Given the description of an element on the screen output the (x, y) to click on. 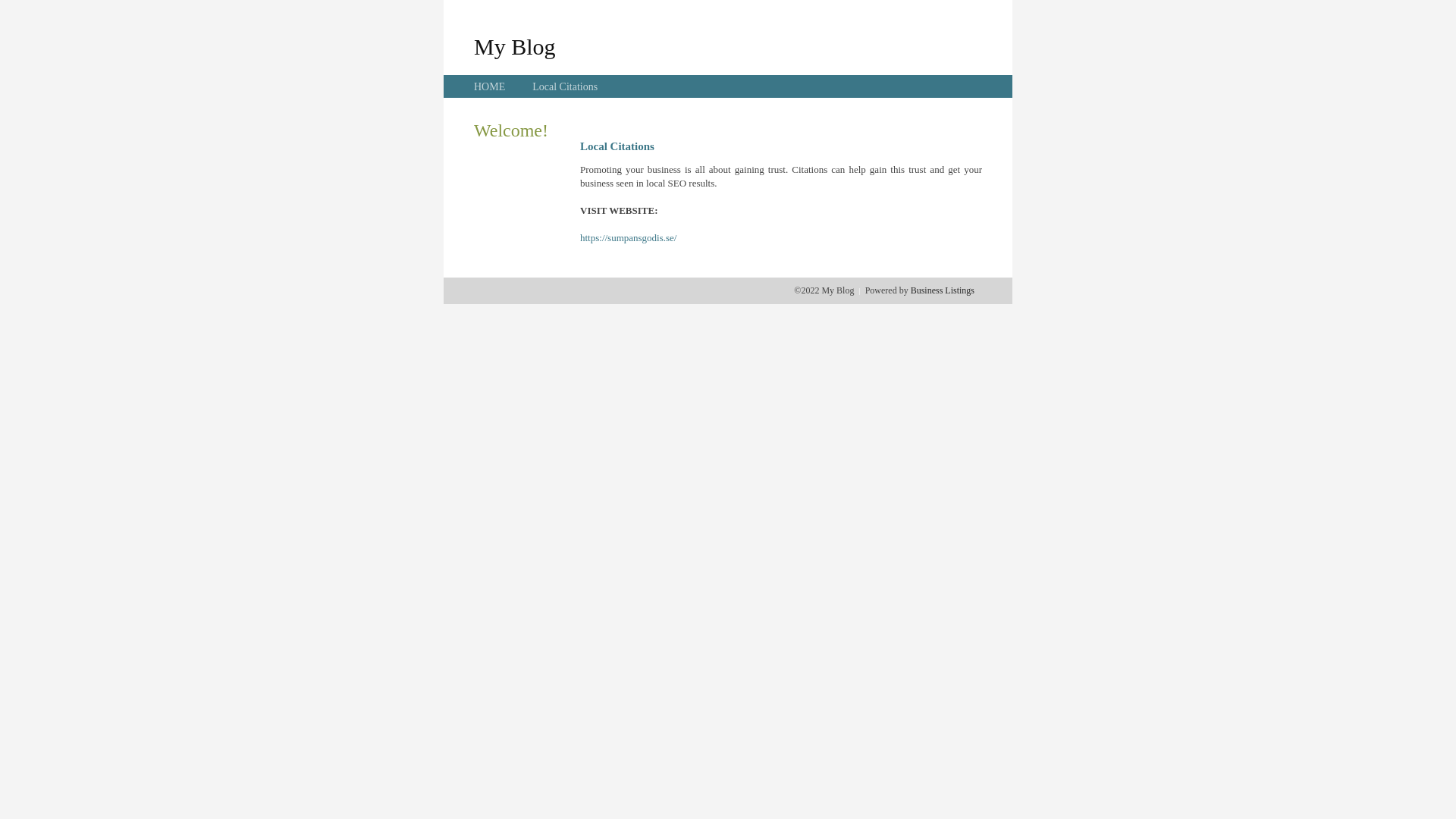
https://sumpansgodis.se/ Element type: text (628, 237)
My Blog Element type: text (514, 46)
HOME Element type: text (489, 86)
Local Citations Element type: text (564, 86)
Business Listings Element type: text (942, 290)
